Given the description of an element on the screen output the (x, y) to click on. 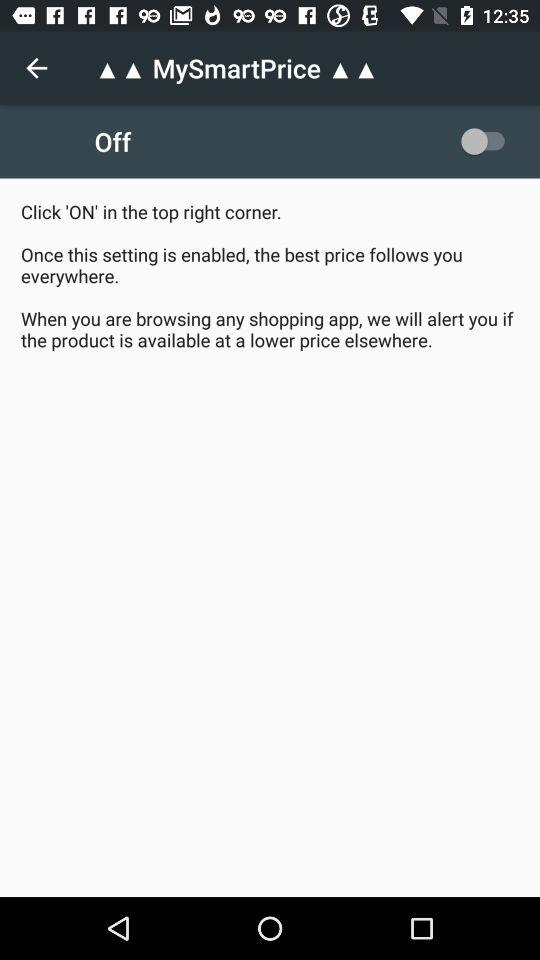
press the item at the top right corner (487, 141)
